Given the description of an element on the screen output the (x, y) to click on. 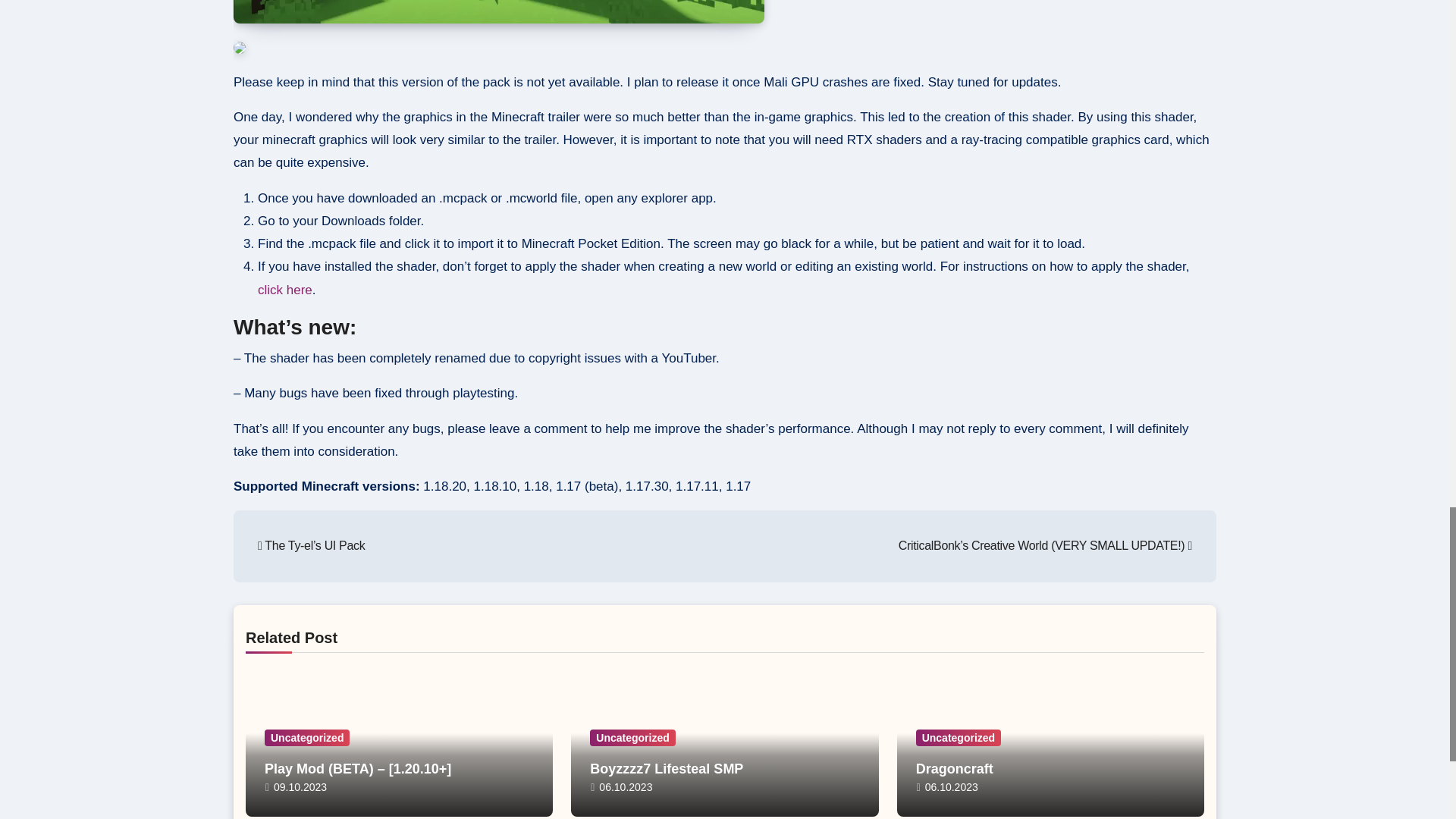
Boyzzzz7 Lifesteal SMP (665, 768)
click here (285, 289)
06.10.2023 (625, 787)
09.10.2023 (299, 787)
Uncategorized (306, 737)
Dragoncraft (953, 768)
Uncategorized (958, 737)
Uncategorized (632, 737)
